Given the description of an element on the screen output the (x, y) to click on. 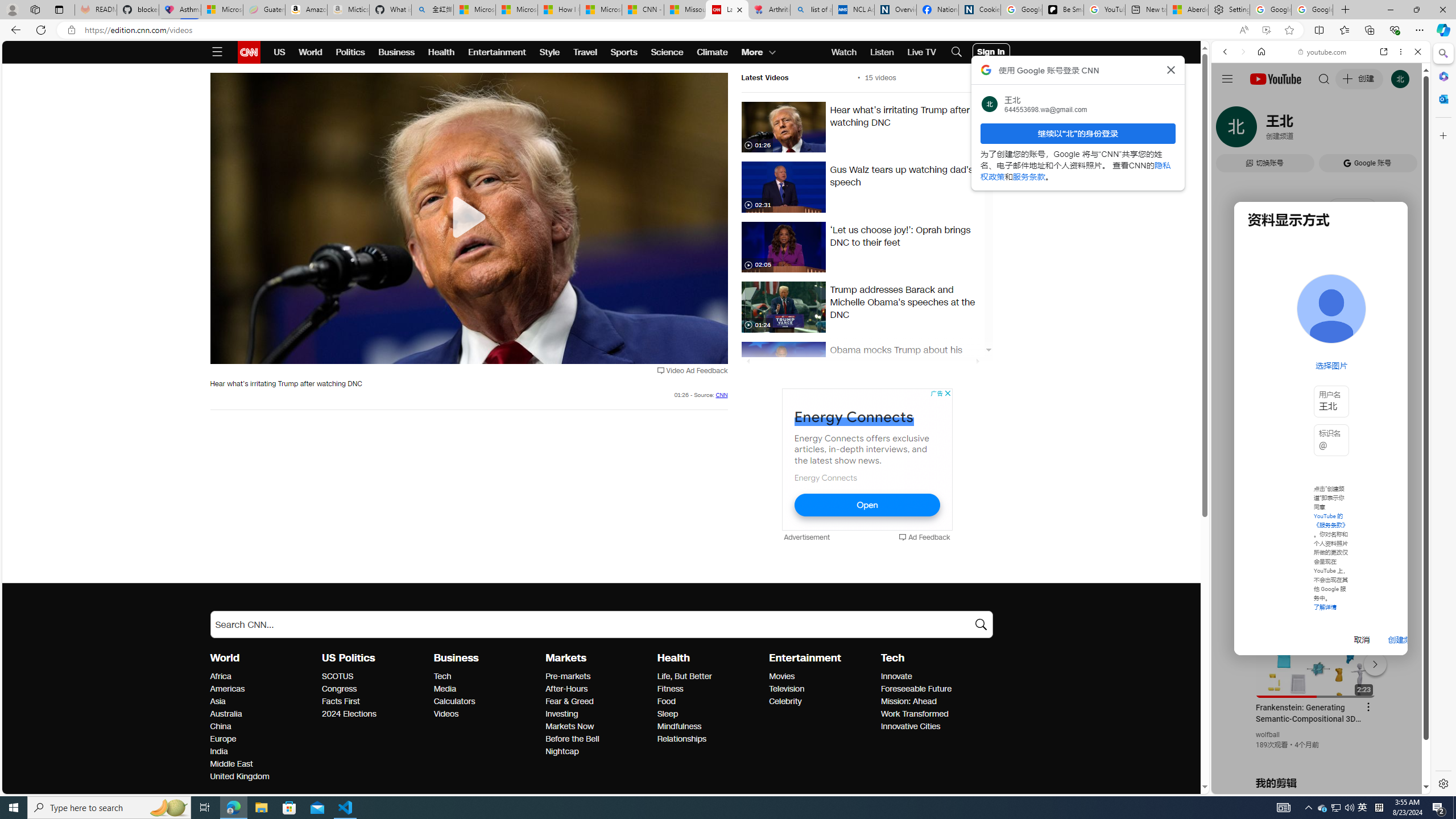
WEB   (1230, 130)
Style (549, 51)
Celebrity (820, 701)
still_20889475_5694453.926_still.jpg (783, 186)
Markets Nightcap (562, 751)
Foreseeable Future (932, 688)
Business Media (445, 688)
